Given the description of an element on the screen output the (x, y) to click on. 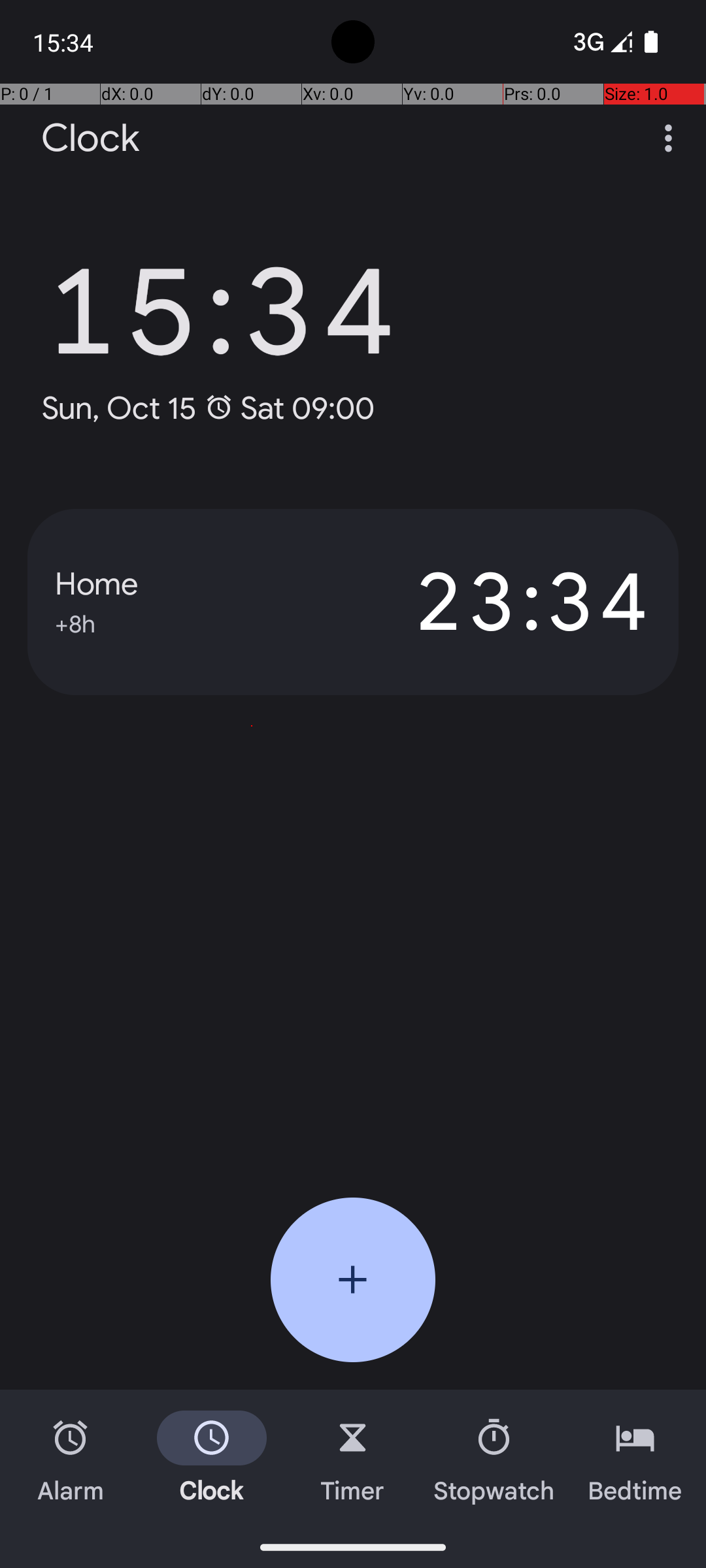
Sun, Oct 15 A Sat 09:00 Element type: android.widget.TextView (207, 407)
+8h Element type: android.widget.TextView (74, 621)
23:34 Element type: android.widget.TextView (502, 601)
